Given the description of an element on the screen output the (x, y) to click on. 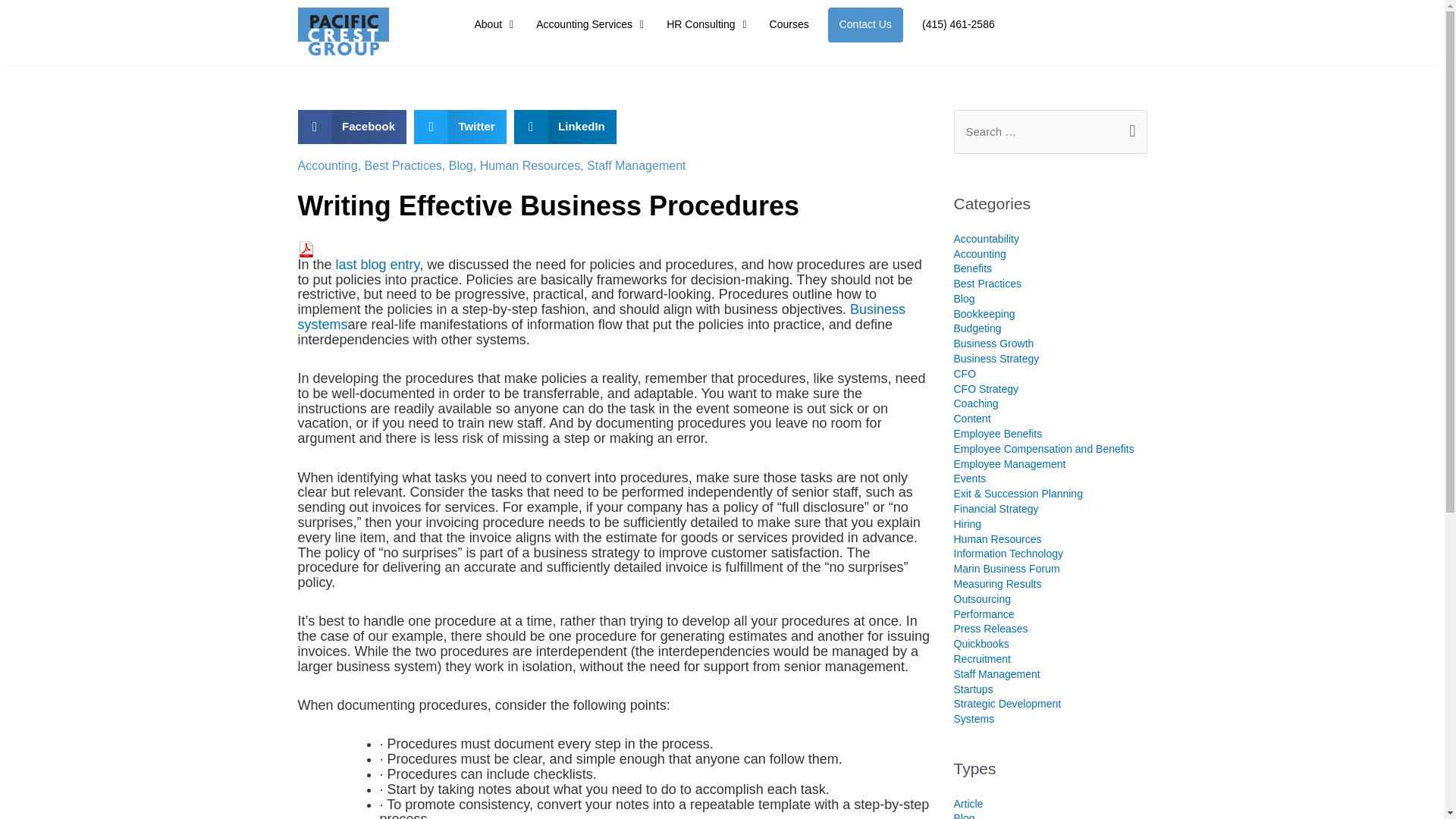
Accounting Services (589, 24)
Contact Us (865, 24)
HR Consulting (706, 24)
Download PDF (305, 248)
Courses (789, 24)
About (493, 24)
